Given the description of an element on the screen output the (x, y) to click on. 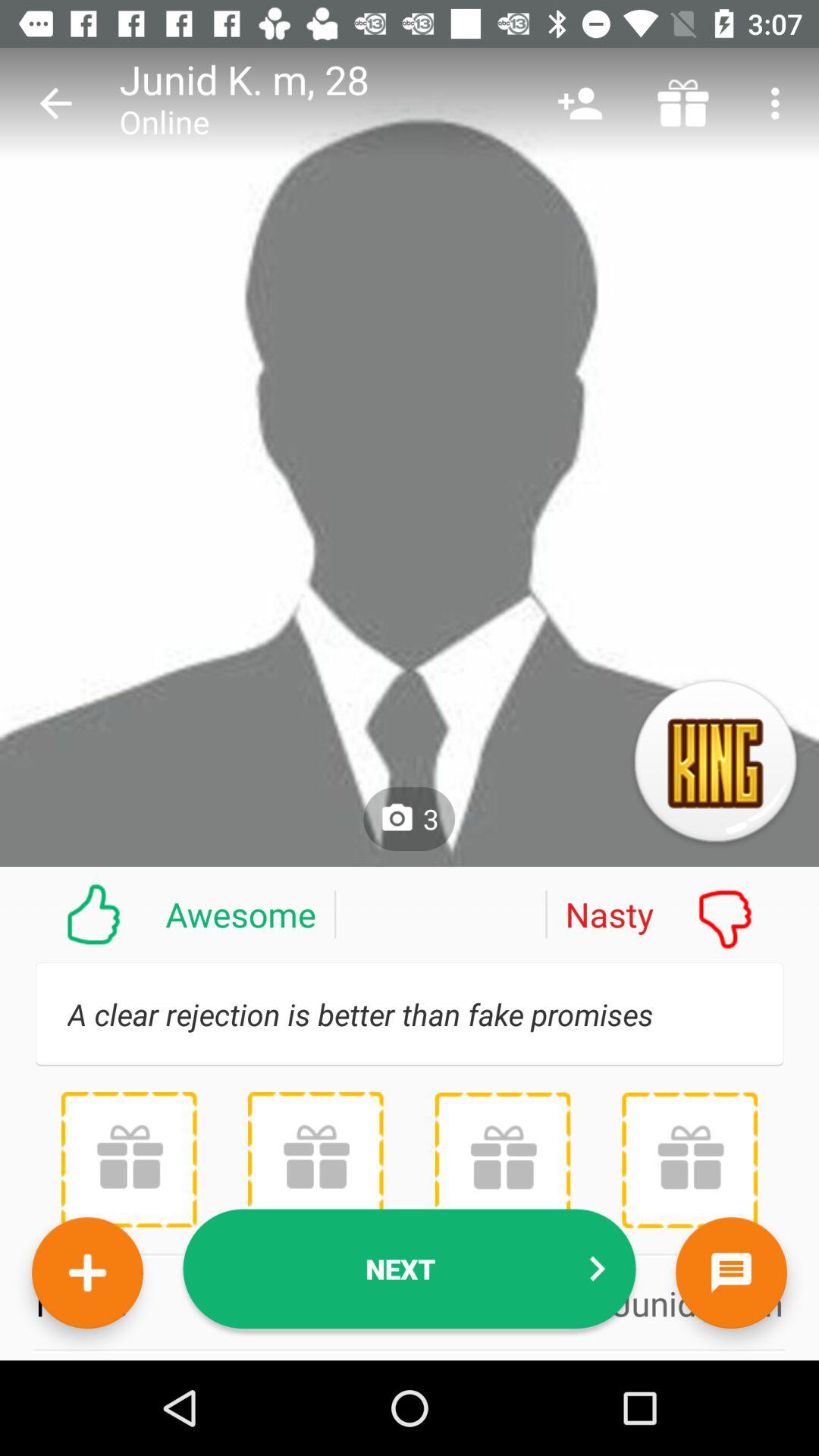
message this person (731, 1272)
